Given the description of an element on the screen output the (x, y) to click on. 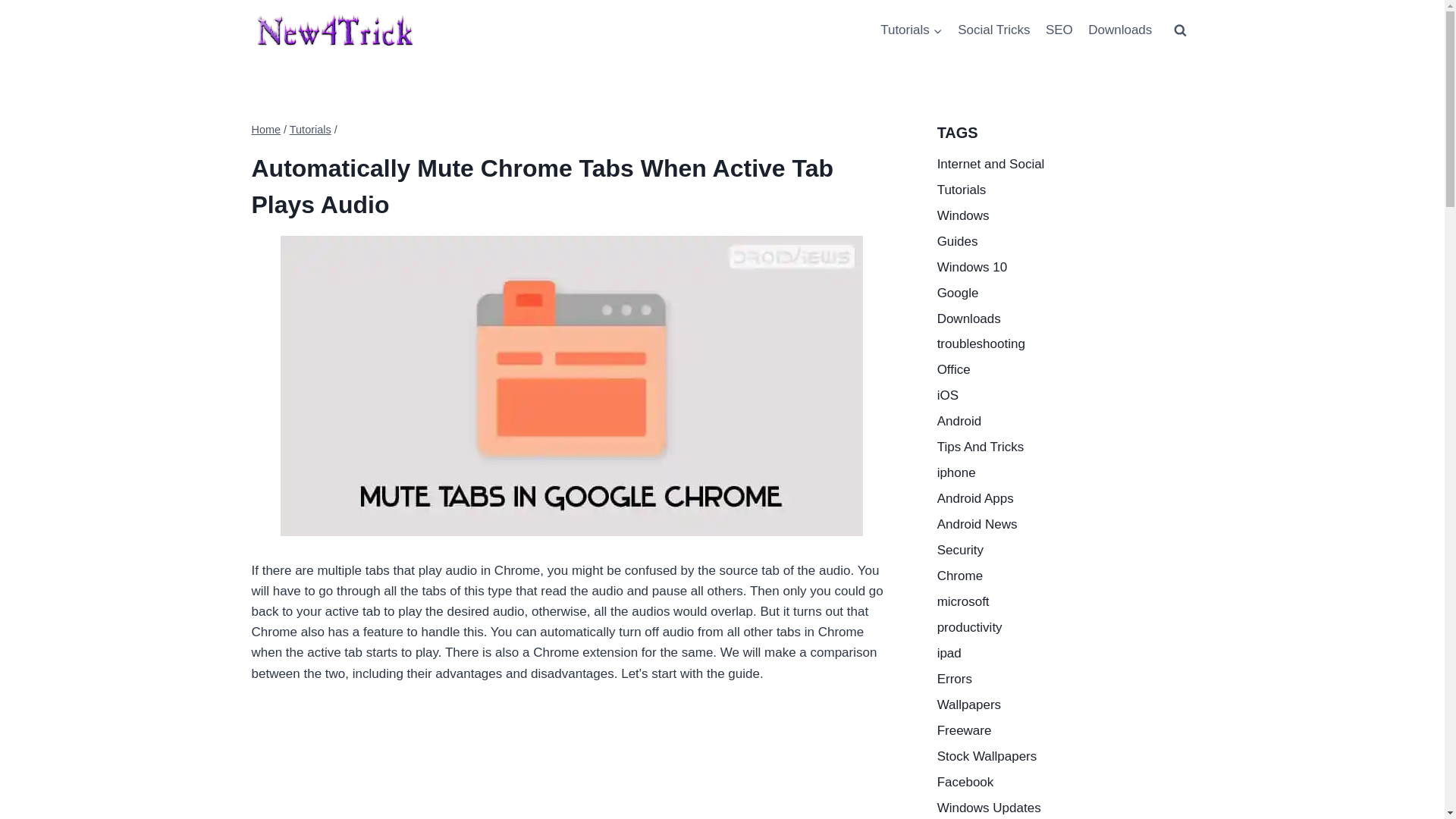
troubleshooting (1065, 344)
Downloads (1065, 319)
Guides (1065, 241)
iphone (1065, 473)
Social Tricks (994, 30)
Windows 10 (1065, 267)
Downloads (1119, 30)
Home (266, 129)
Google (1065, 293)
Windows (1065, 216)
Tutorials (911, 30)
iOS (1065, 396)
Android (1065, 421)
Tips And Tricks (1065, 447)
Tutorials (1065, 190)
